Given the description of an element on the screen output the (x, y) to click on. 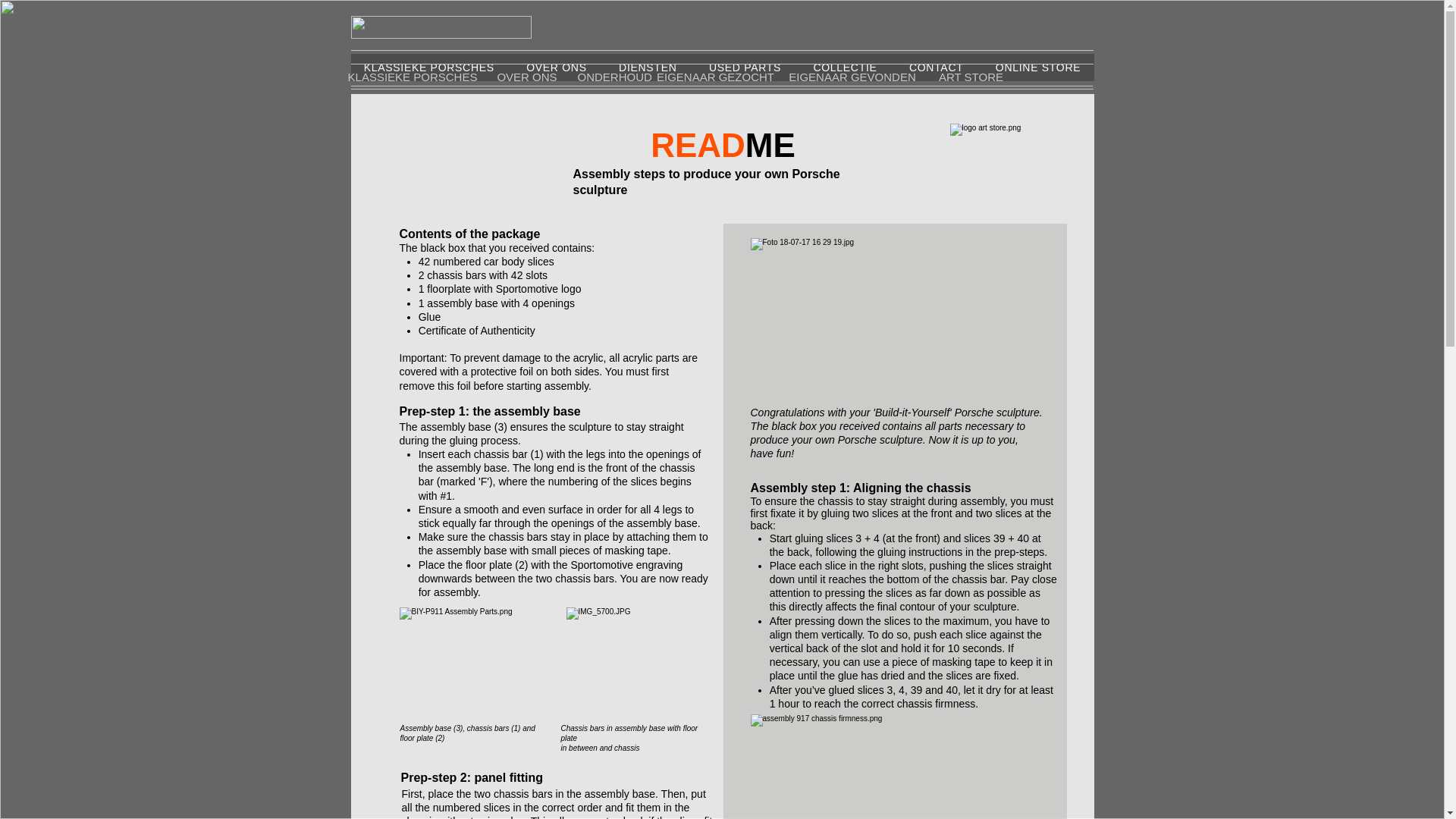
OVER ONS (556, 67)
COLLECTIE (844, 67)
KLASSIEKE PORSCHES (428, 67)
OVER ONS (526, 76)
USED PARTS (744, 67)
CONTACT (936, 67)
EIGENAAR GEVONDEN (852, 76)
Twitter Follow (1059, 26)
ONLINE STORE (1038, 67)
EIGENAAR GEZOCHT (714, 76)
